Given the description of an element on the screen output the (x, y) to click on. 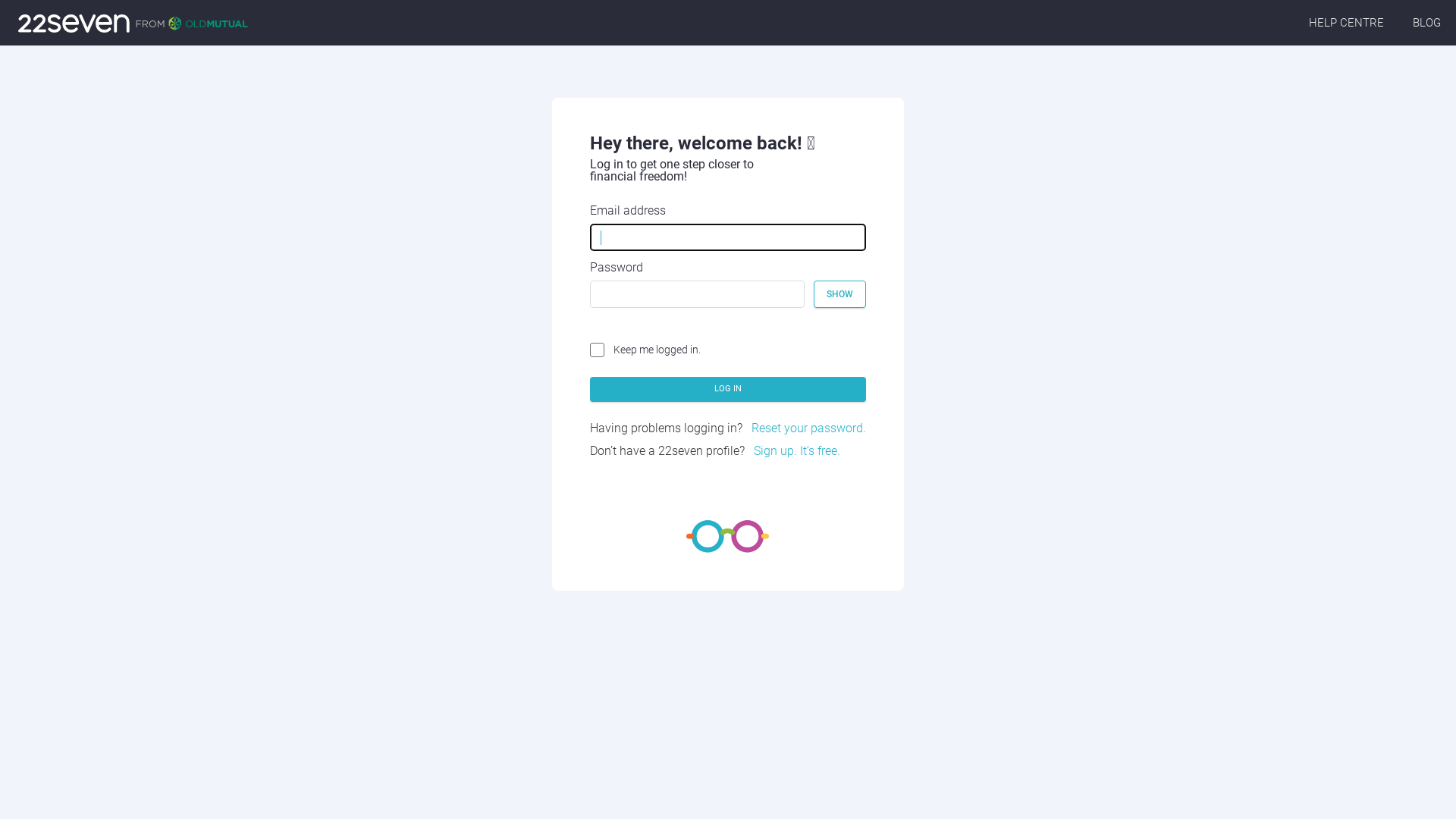
HELP CENTRE Element type: text (1347, 22)
Keep me logged in. Element type: text (644, 349)
LOG IN Element type: text (727, 388)
SHOW Element type: text (839, 293)
